Given the description of an element on the screen output the (x, y) to click on. 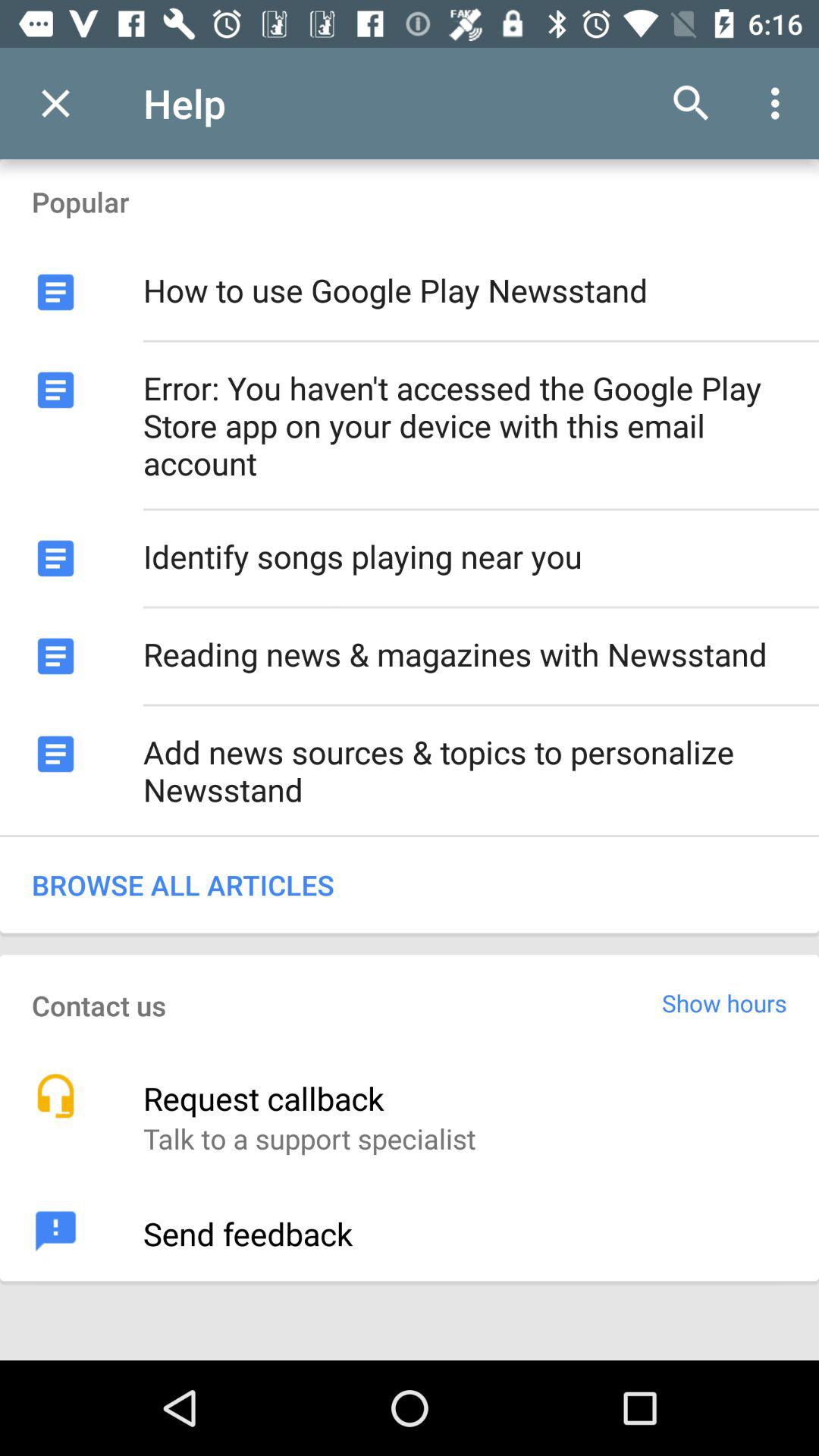
press icon above contact us item (409, 884)
